Given the description of an element on the screen output the (x, y) to click on. 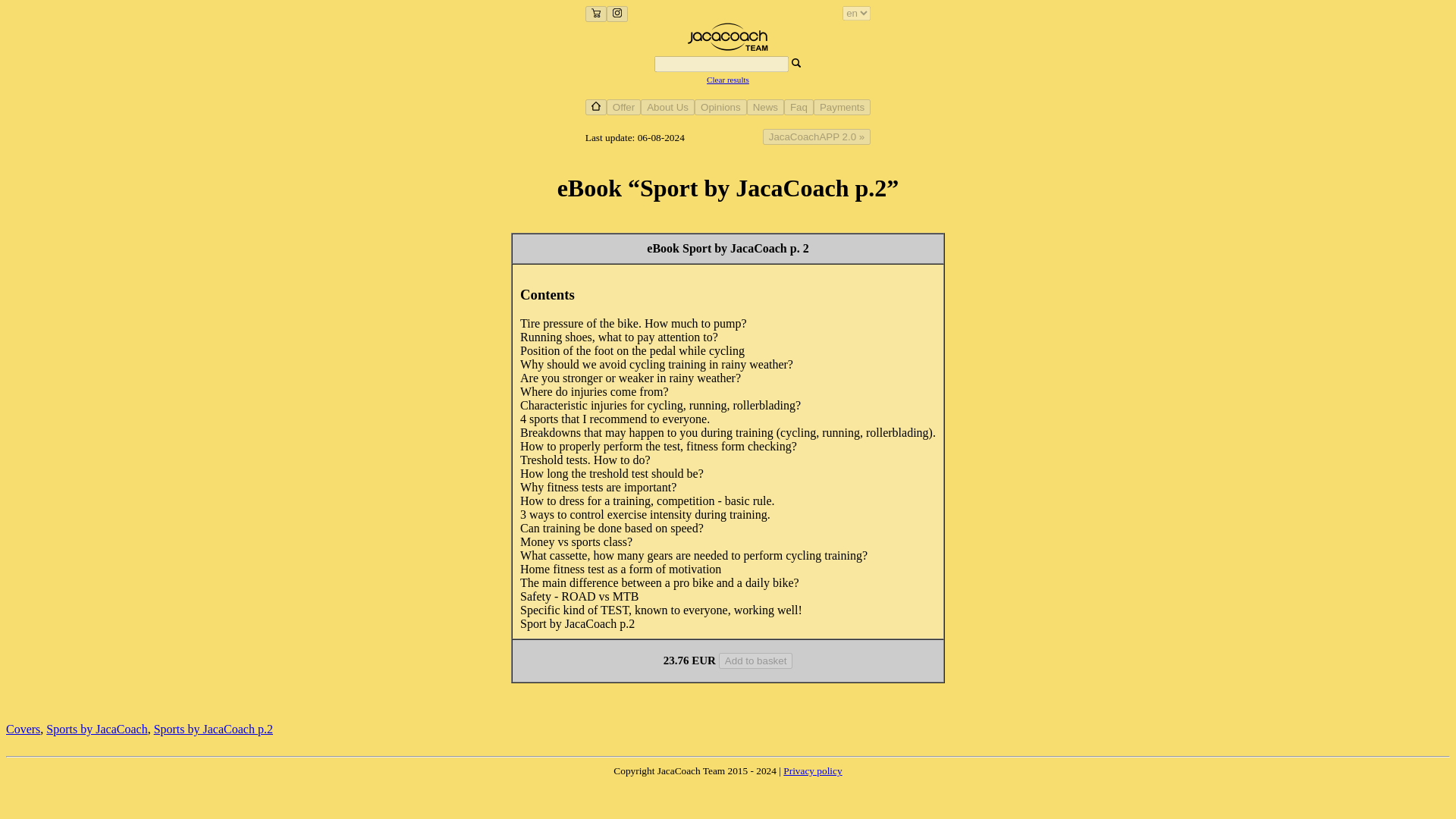
Privacy policy (812, 770)
Athletes opinions about JacaCoach (720, 106)
News (765, 107)
Offer (623, 107)
Faq (798, 106)
Sports by JacaCoach p.2 (213, 728)
Faq (798, 107)
News (765, 106)
About Us (667, 106)
Payments (841, 106)
